Given the description of an element on the screen output the (x, y) to click on. 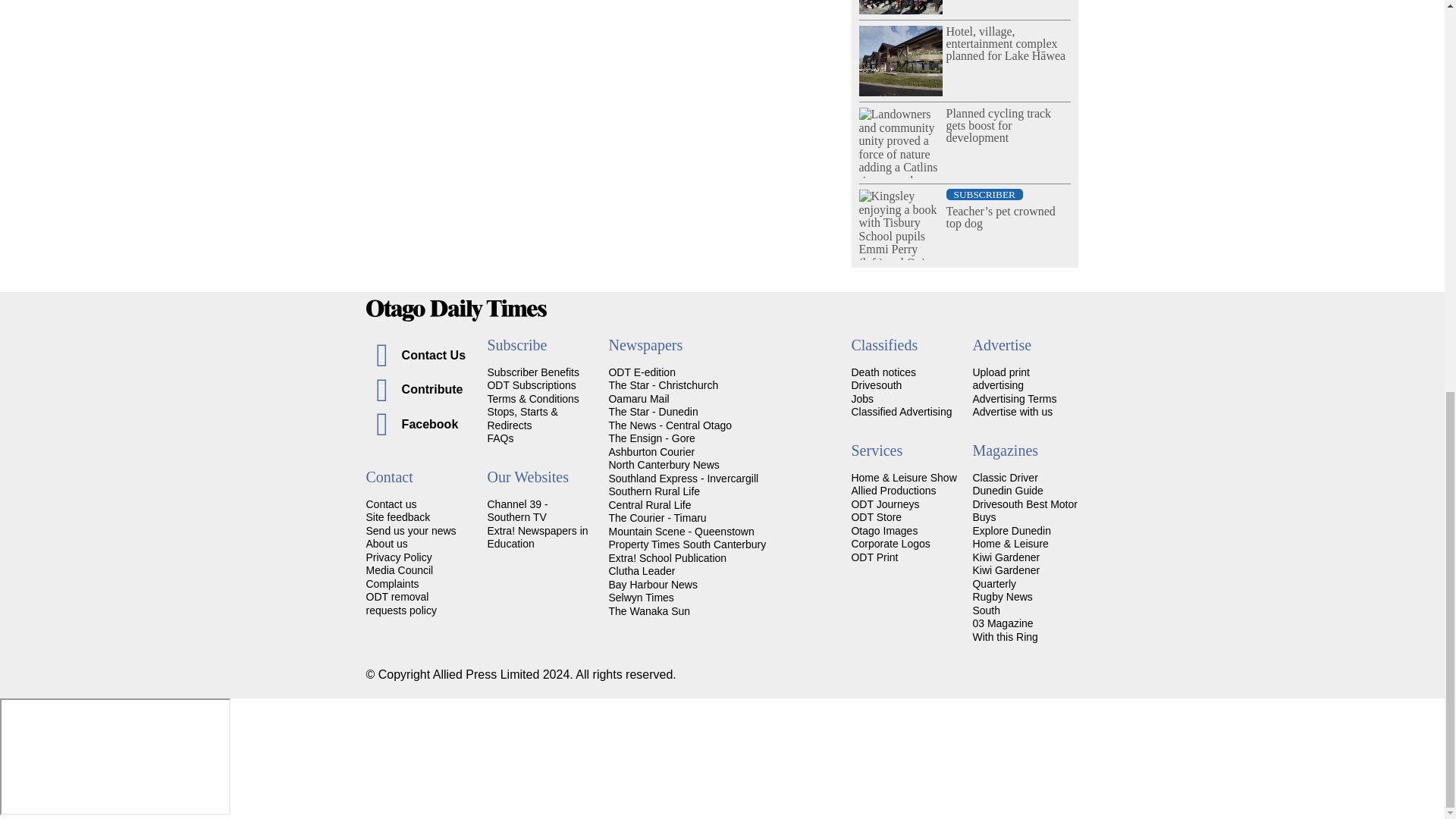
Send us your news and photos. (410, 530)
Get the ODT delivered right to you! (532, 372)
Let us know what you think (397, 517)
Home (721, 310)
Get in touch (390, 503)
Ways to subscribe to the Otago Daily Times (530, 385)
